Given the description of an element on the screen output the (x, y) to click on. 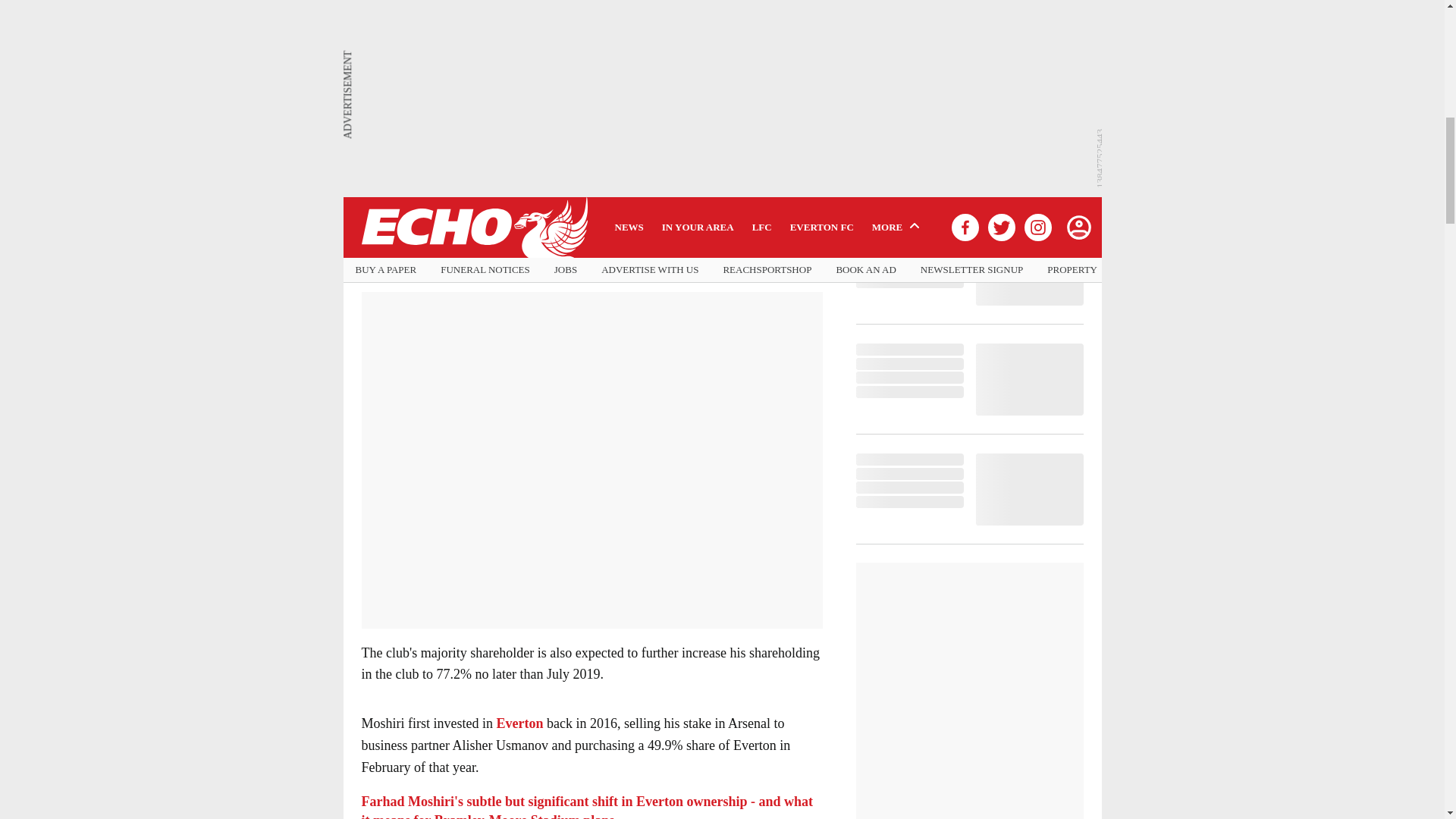
Everton (519, 723)
